Given the description of an element on the screen output the (x, y) to click on. 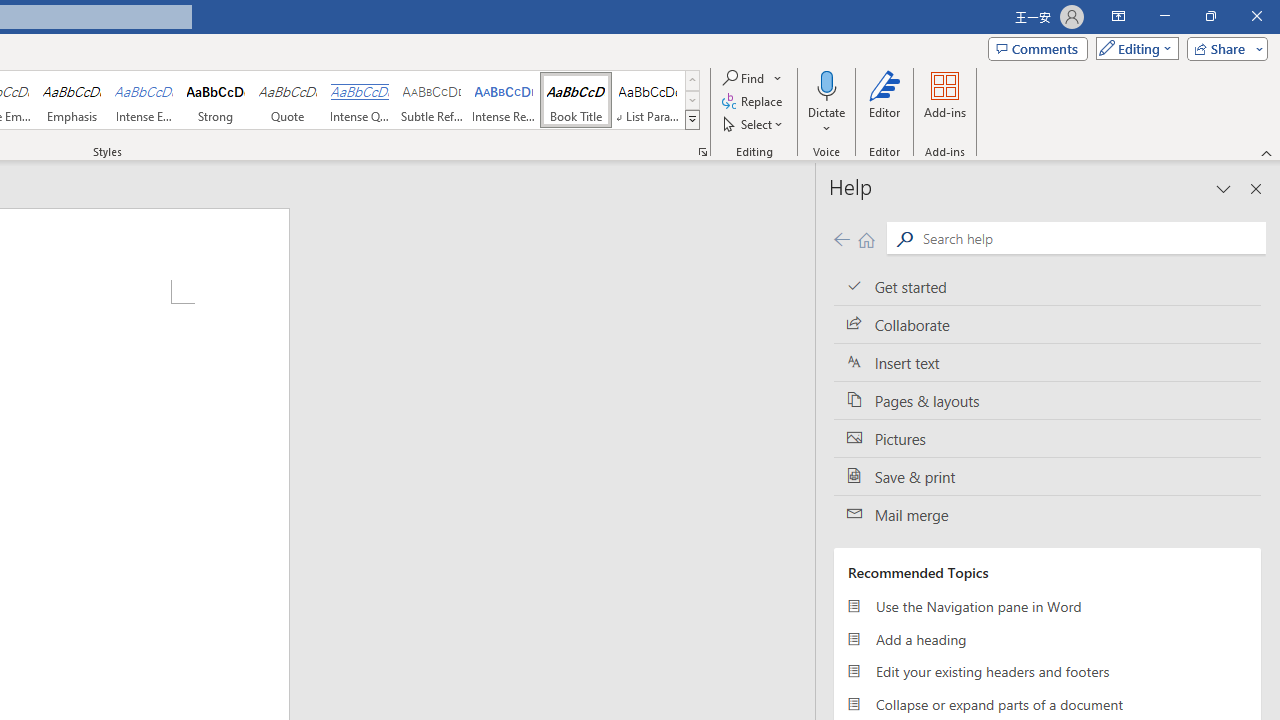
Search (904, 238)
Search (1089, 237)
Row up (692, 79)
Mode (1133, 47)
Row Down (692, 100)
Close pane (1256, 188)
Intense Quote (359, 100)
Pages & layouts (1047, 400)
Task Pane Options (1224, 188)
Dictate (826, 102)
Styles (692, 120)
Edit your existing headers and footers (1047, 672)
Replace... (753, 101)
Comments (1038, 48)
